Given the description of an element on the screen output the (x, y) to click on. 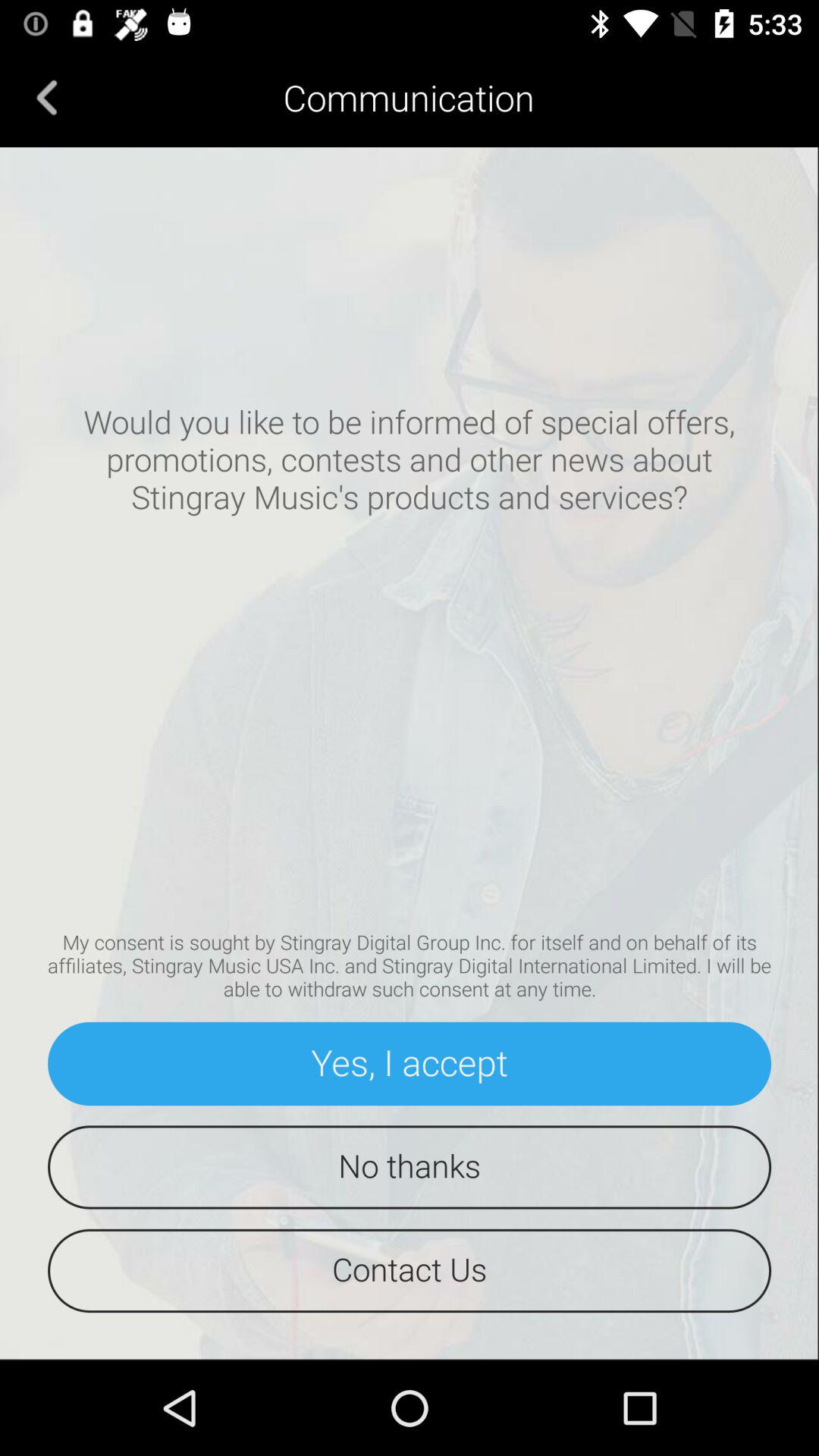
flip until yes, i accept item (409, 1063)
